Given the description of an element on the screen output the (x, y) to click on. 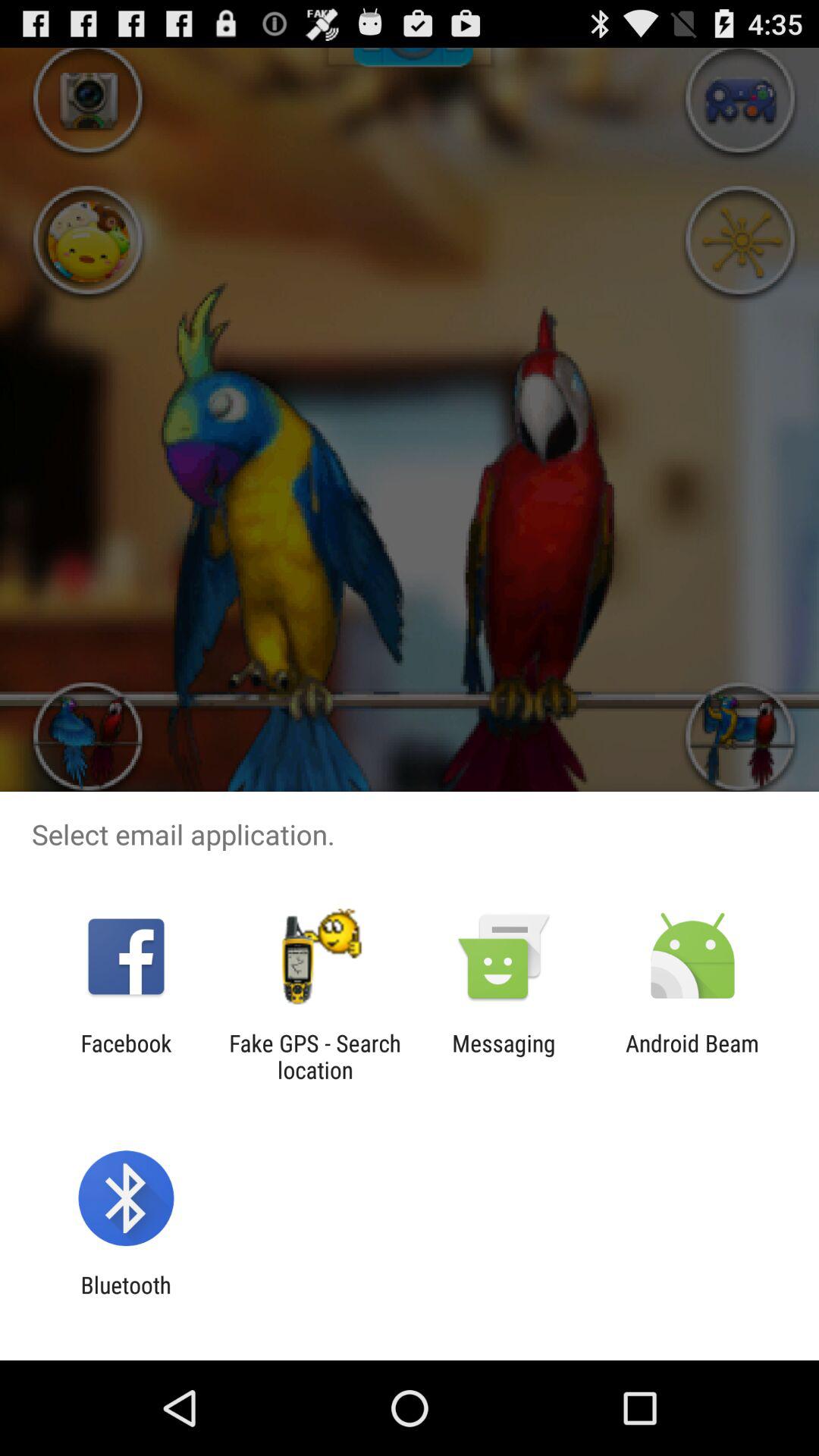
turn off the item next to facebook (314, 1056)
